Given the description of an element on the screen output the (x, y) to click on. 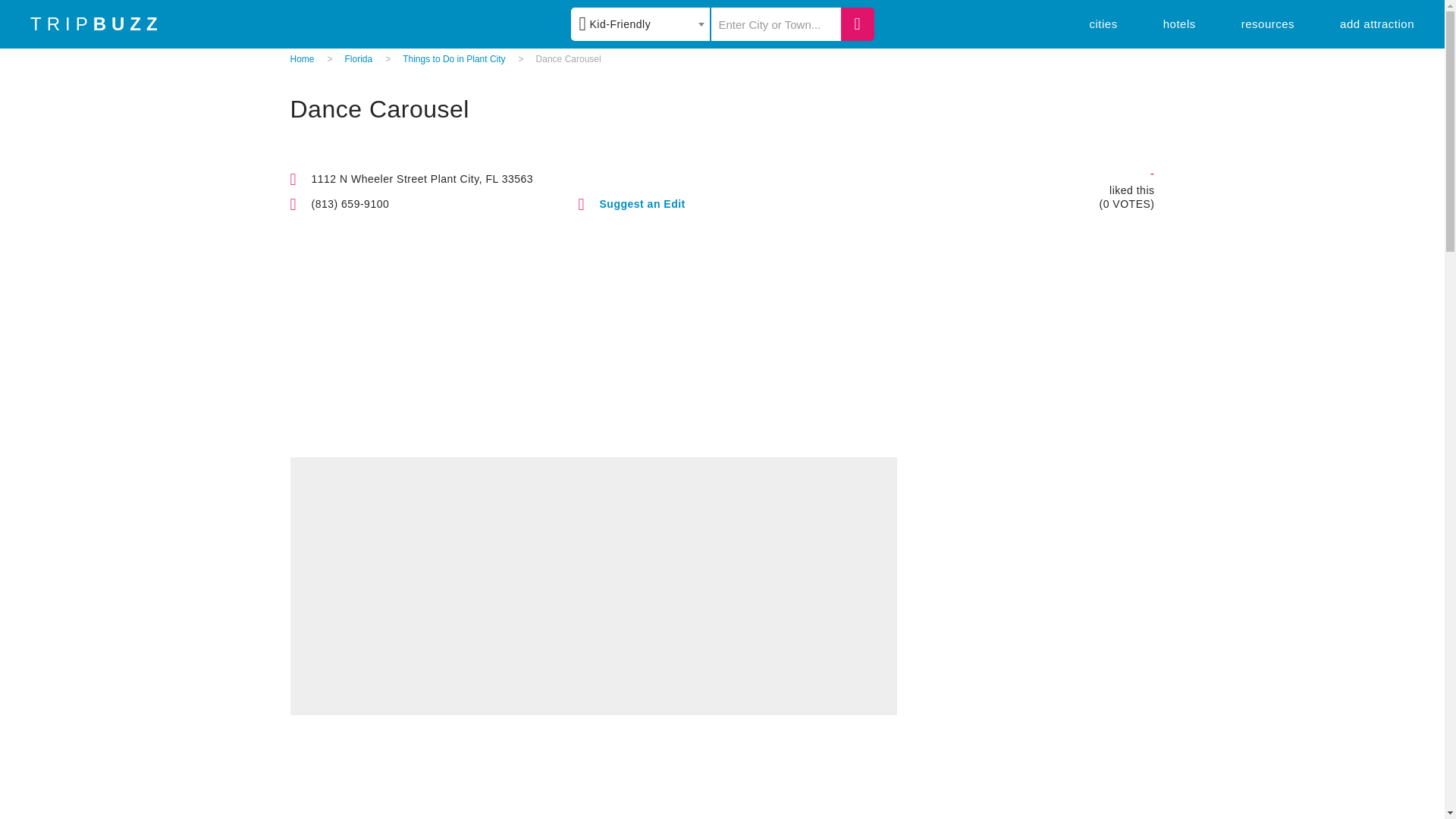
cities (1103, 23)
hotels (1179, 23)
hotels (1179, 23)
Resources (1267, 23)
TRIPBUZZ (96, 24)
add attraction (1376, 23)
Home (301, 59)
Suggest an Edit (641, 203)
resources (1267, 23)
Florida (358, 59)
Things to Do in Plant City (454, 59)
cities (1103, 23)
Login (832, 130)
Kid-Friendly (639, 24)
